Given the description of an element on the screen output the (x, y) to click on. 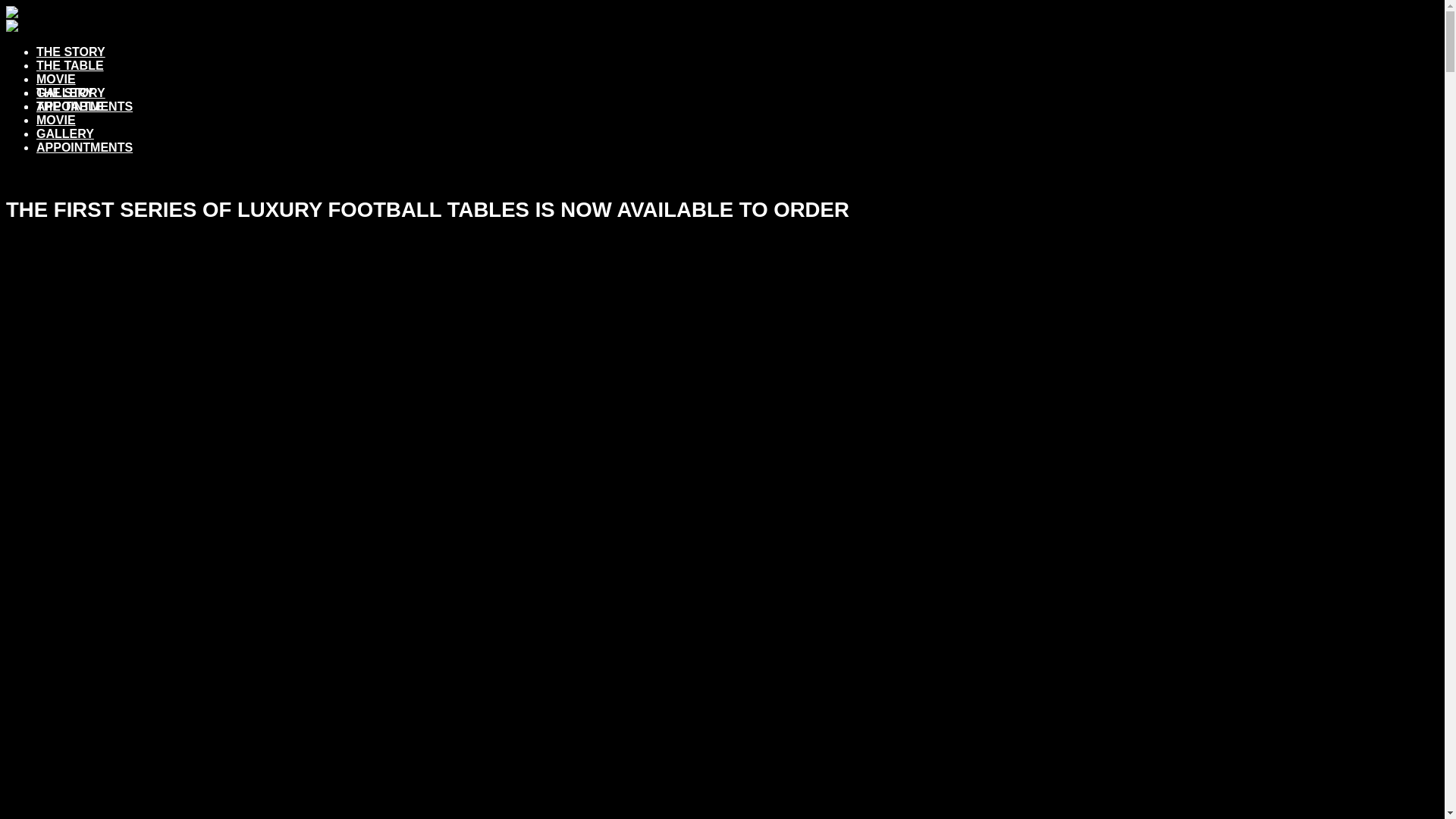
MOVIE Element type: text (55, 119)
APPOINTMENTS Element type: text (84, 106)
GALLERY Element type: text (65, 133)
THE TABLE Element type: text (69, 106)
APPOINTMENTS Element type: text (84, 147)
THE STORY Element type: text (70, 51)
THE STORY Element type: text (70, 92)
Skip to content Element type: text (5, 5)
11 The Game Element type: hover (49, 19)
MOVIE Element type: text (55, 78)
GALLERY Element type: text (65, 92)
THE TABLE Element type: text (69, 65)
